Given the description of an element on the screen output the (x, y) to click on. 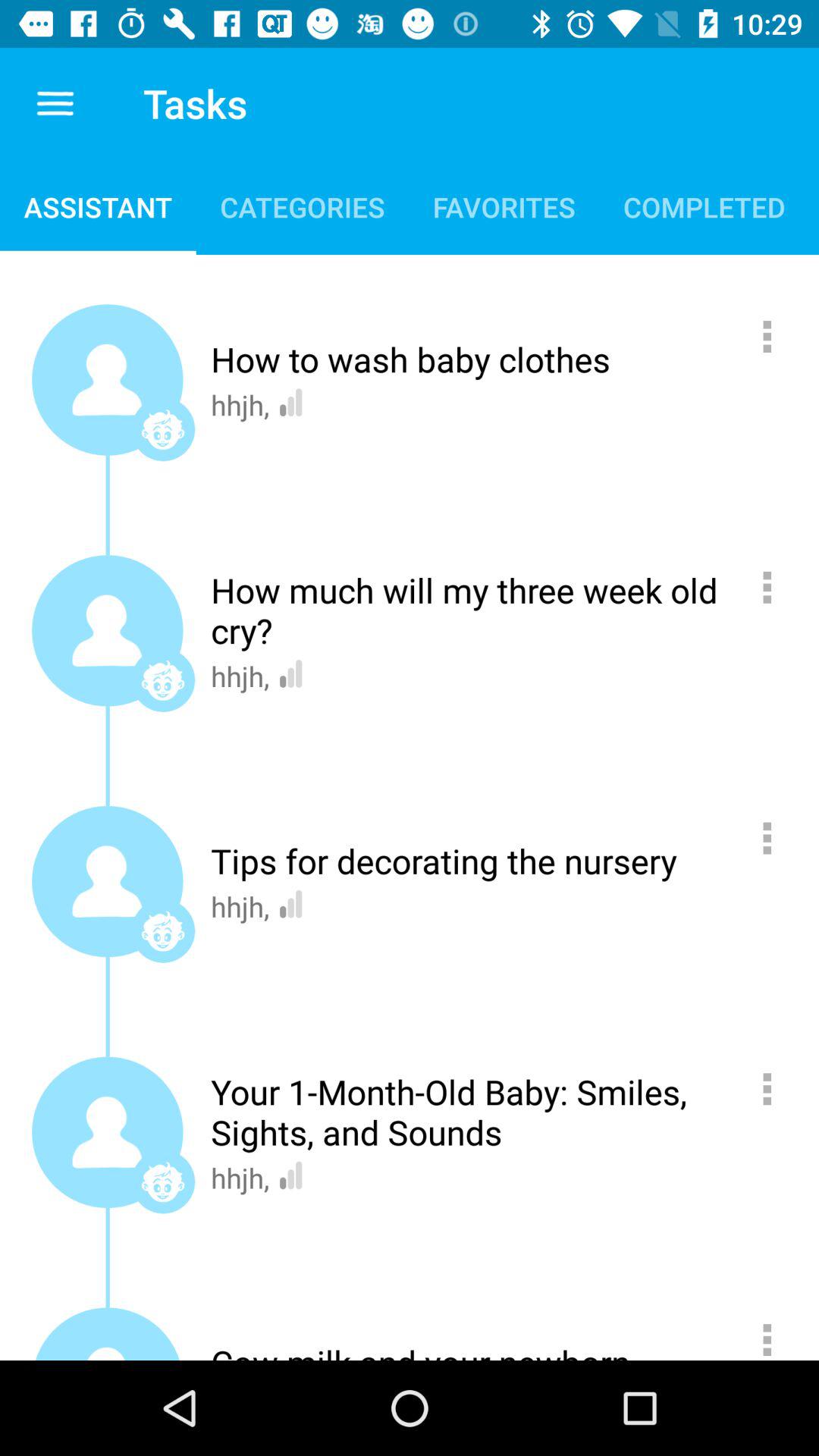
view more information (775, 838)
